Given the description of an element on the screen output the (x, y) to click on. 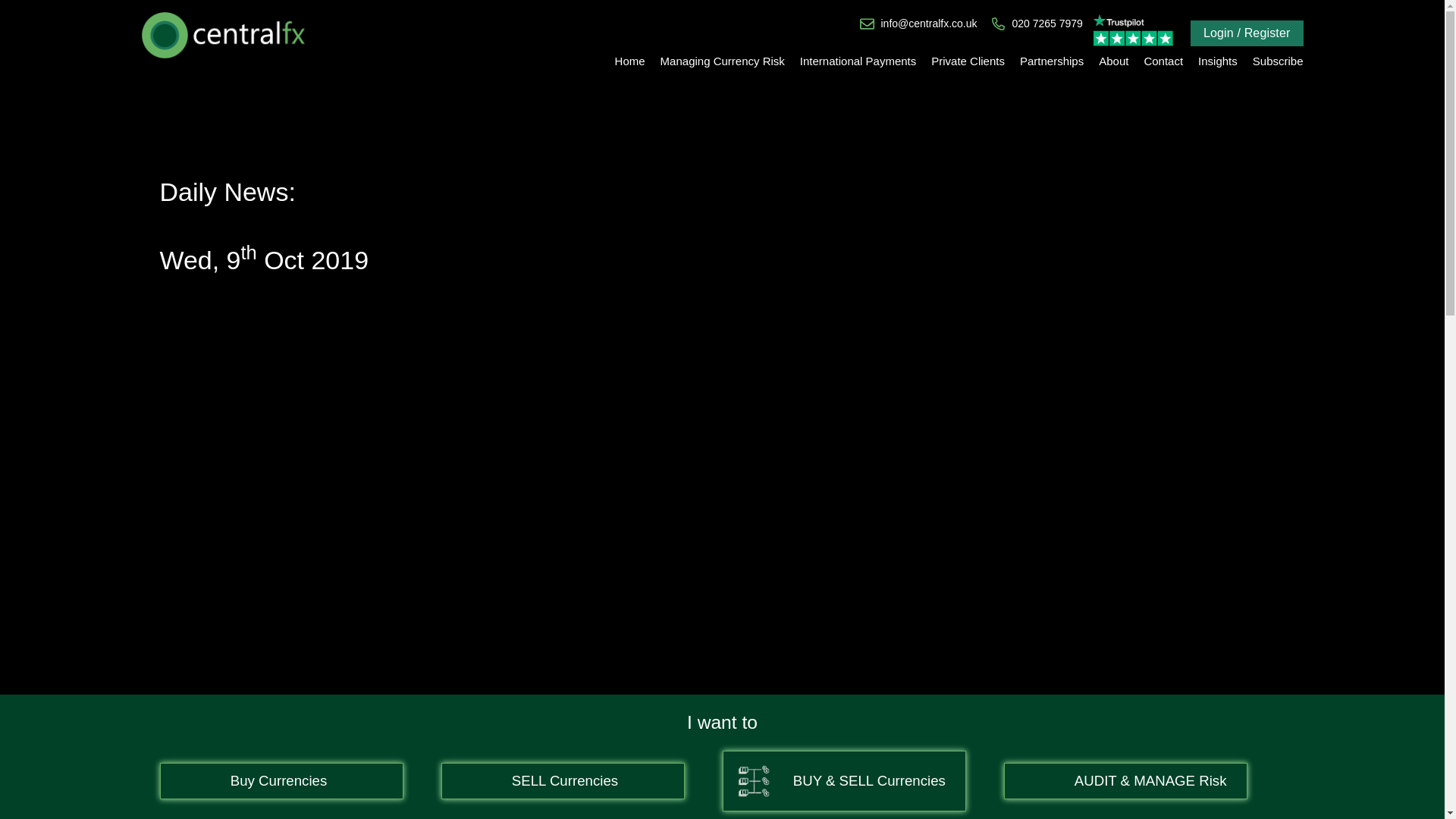
Home (629, 61)
International Payments (857, 61)
020 7265 7979 (1046, 23)
Managing Currency Risk (722, 61)
Subscribe (1277, 61)
Private Clients (967, 61)
Partnerships (1050, 61)
Insights (1217, 61)
Buy Currencies (281, 781)
SELL Currencies (561, 781)
